Given the description of an element on the screen output the (x, y) to click on. 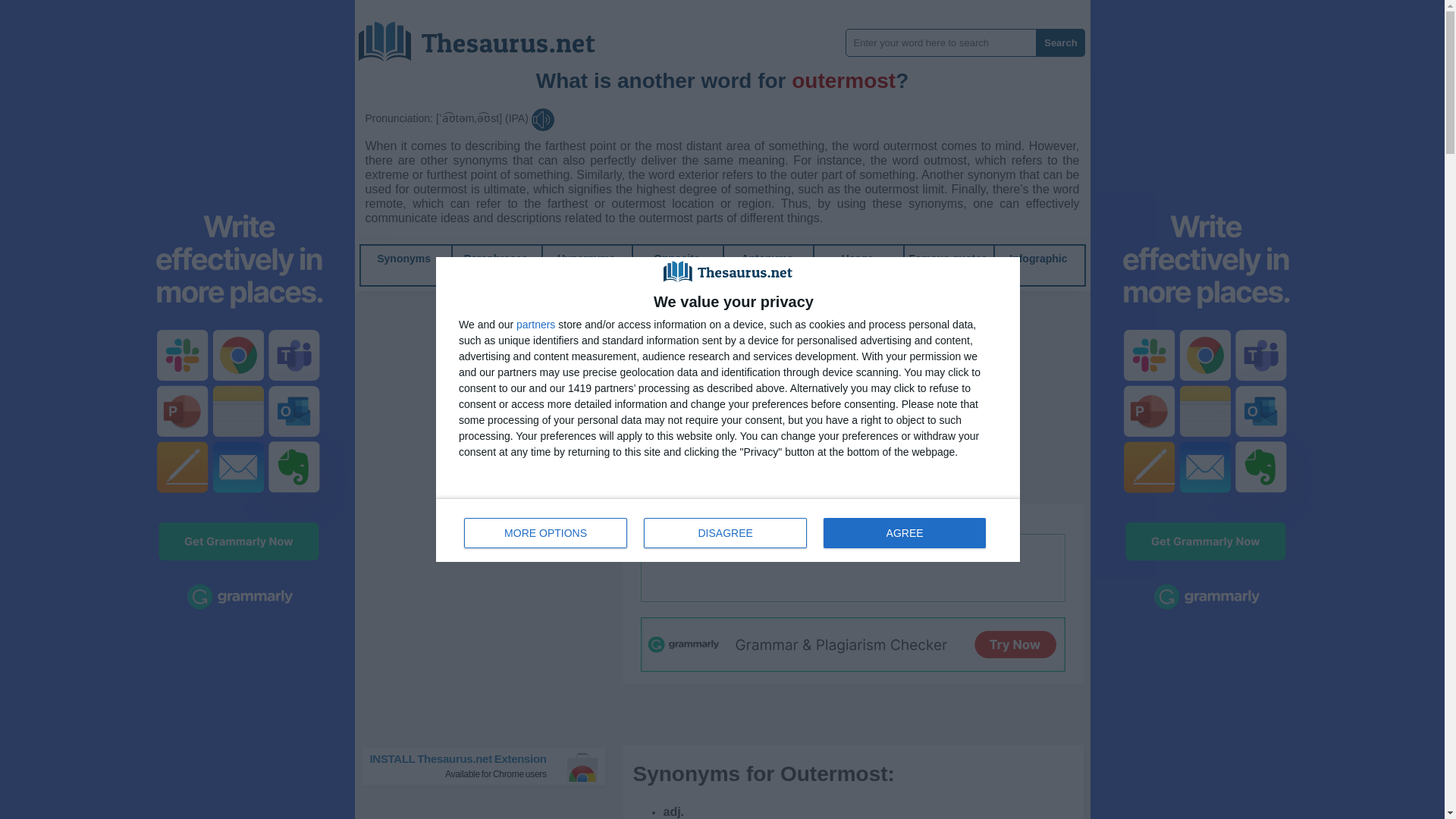
Infographic (1038, 258)
Usage examples (857, 265)
Paraphrases (495, 258)
Famous quotes (489, 765)
DISAGREE (947, 258)
Thesaurus.net (724, 532)
MORE OPTIONS (487, 35)
partners (545, 532)
Hypernyms (535, 324)
